Given the description of an element on the screen output the (x, y) to click on. 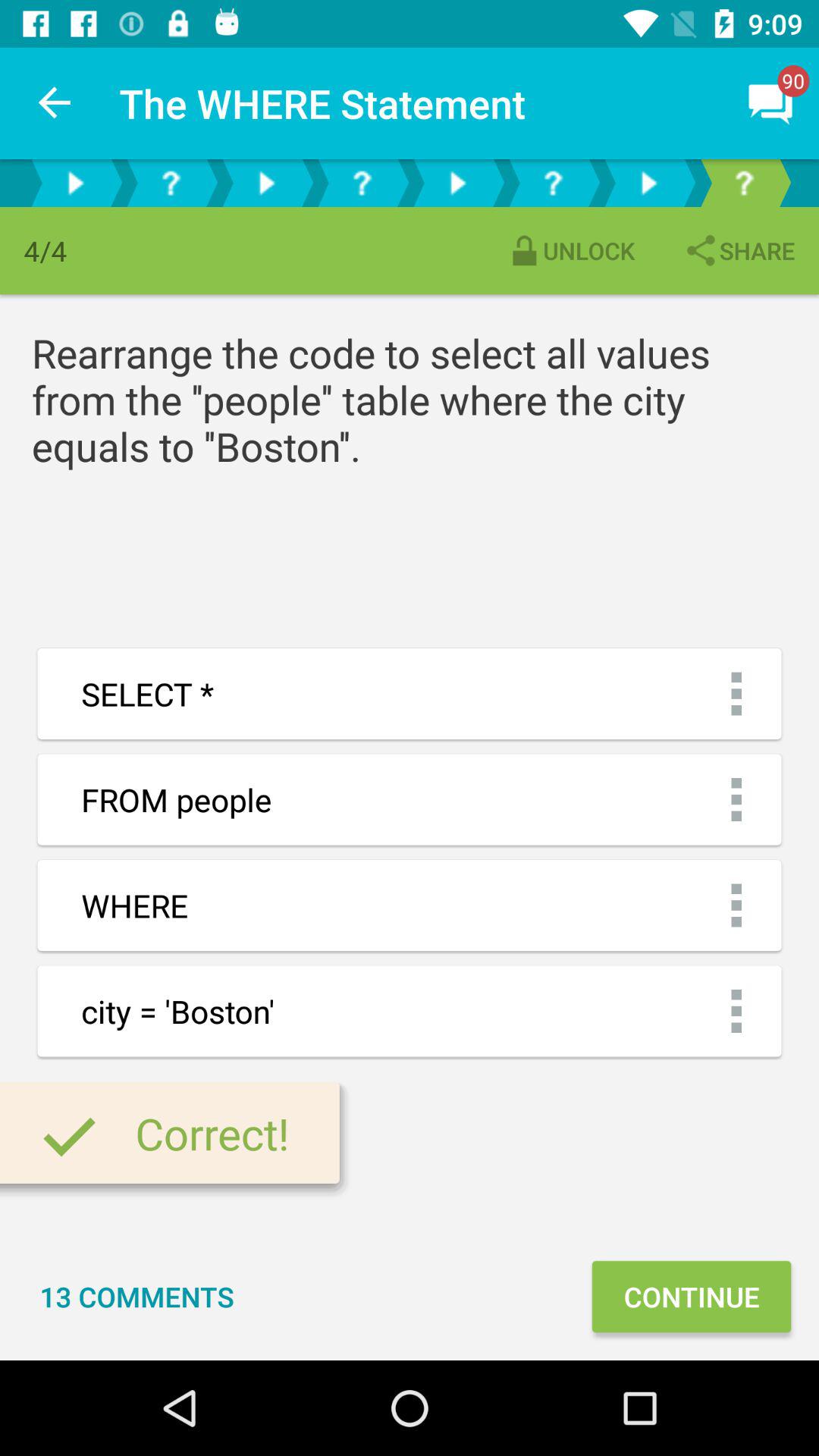
help (170, 183)
